Given the description of an element on the screen output the (x, y) to click on. 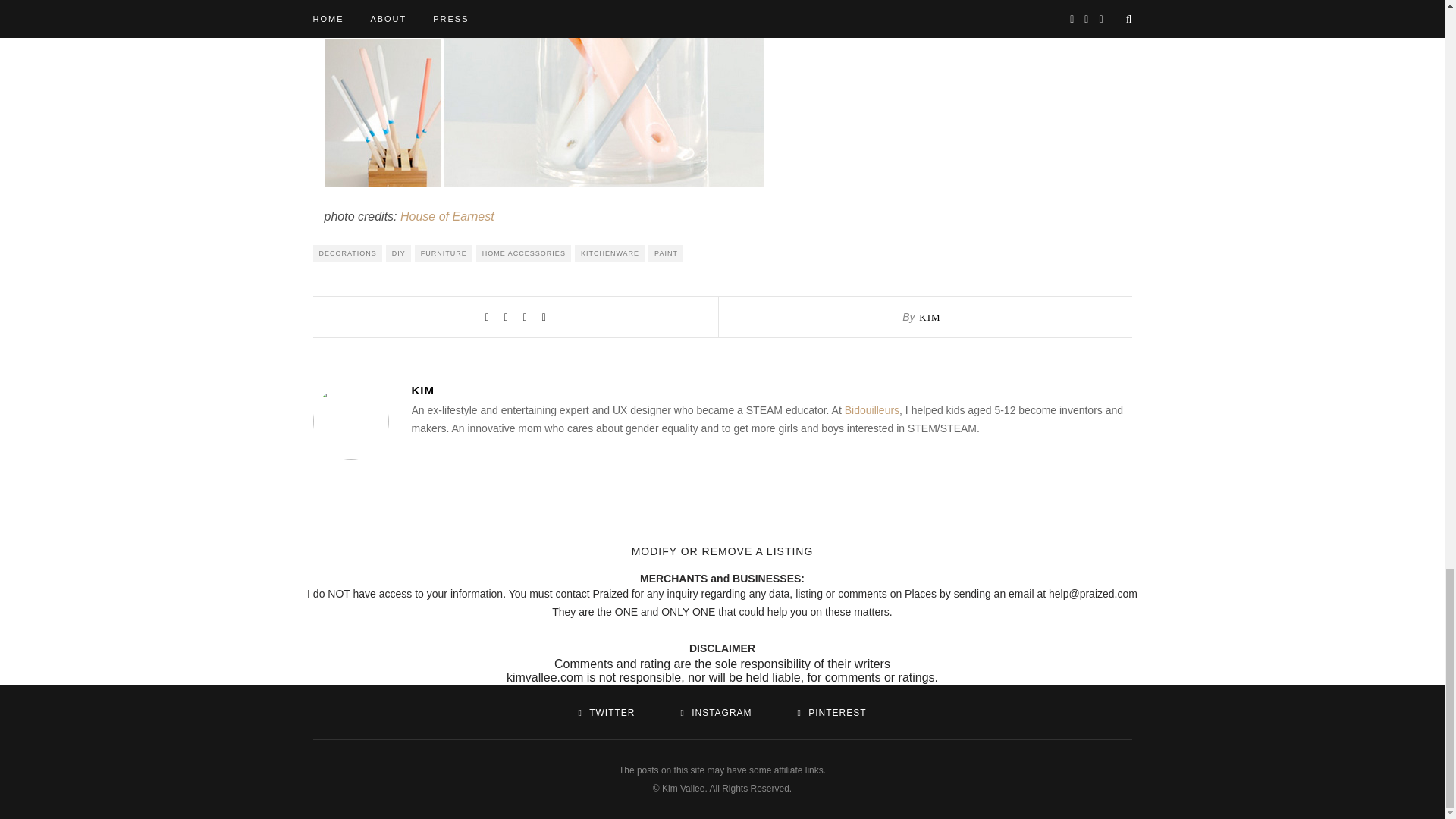
Bidouilleurs (871, 410)
PAINT (664, 253)
KITCHENWARE (610, 253)
Posts by Kim (770, 390)
DIY (397, 253)
KIM (929, 317)
FURNITURE (442, 253)
INSTAGRAM (715, 712)
House of Earnest (447, 215)
TWITTER (606, 712)
Posts by Kim (929, 317)
HOME ACCESSORIES (523, 253)
dipped wooden spoons (544, 93)
PINTEREST (831, 712)
KIM (770, 390)
